Given the description of an element on the screen output the (x, y) to click on. 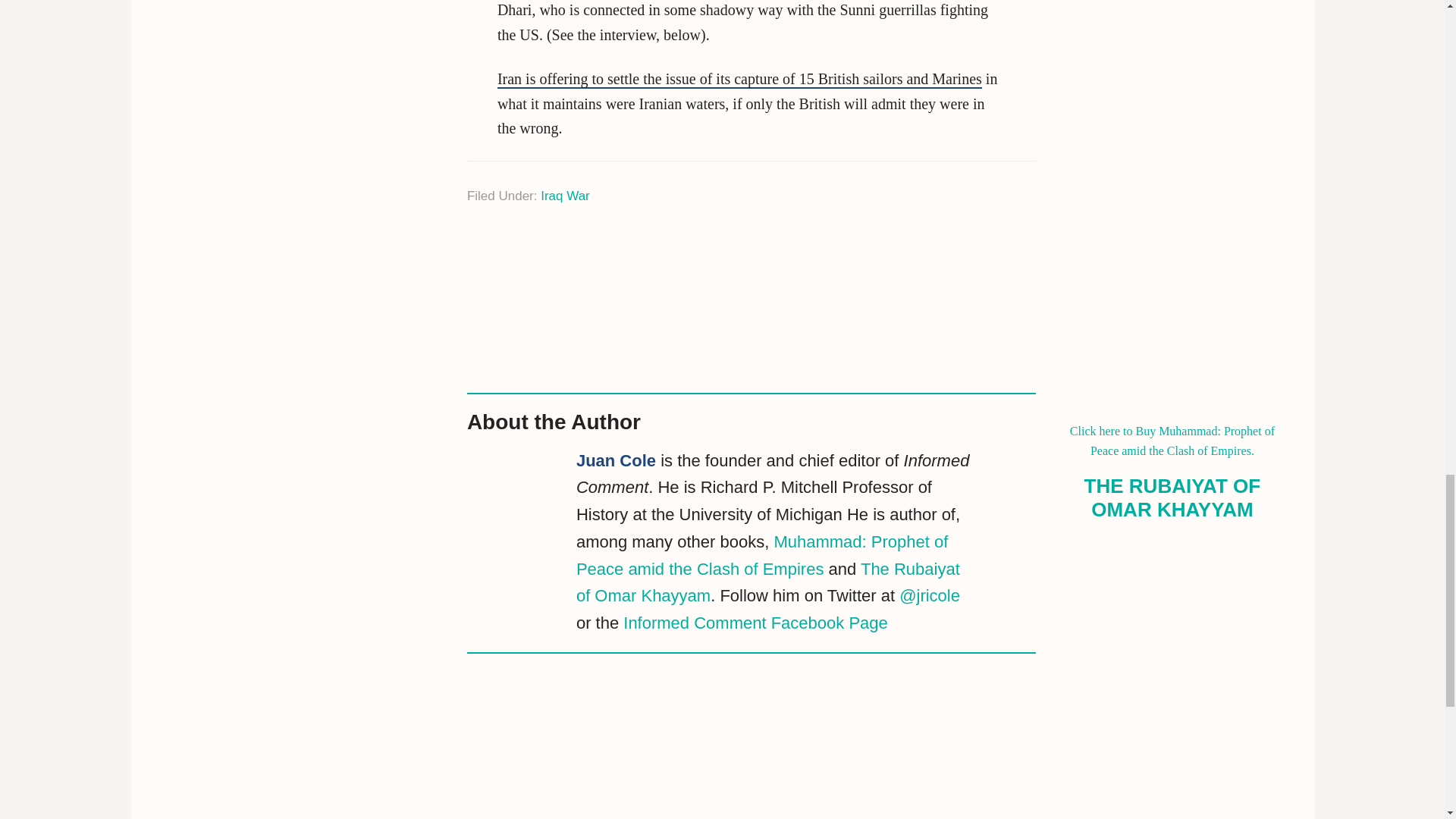
Informed Comment Facebook Page (755, 622)
Iraq War (564, 195)
Muhammad: Prophet of Peace amid the Clash of Empires (761, 555)
The Rubaiyat of Omar Khayyam (767, 582)
Juan Cole (616, 460)
